Given the description of an element on the screen output the (x, y) to click on. 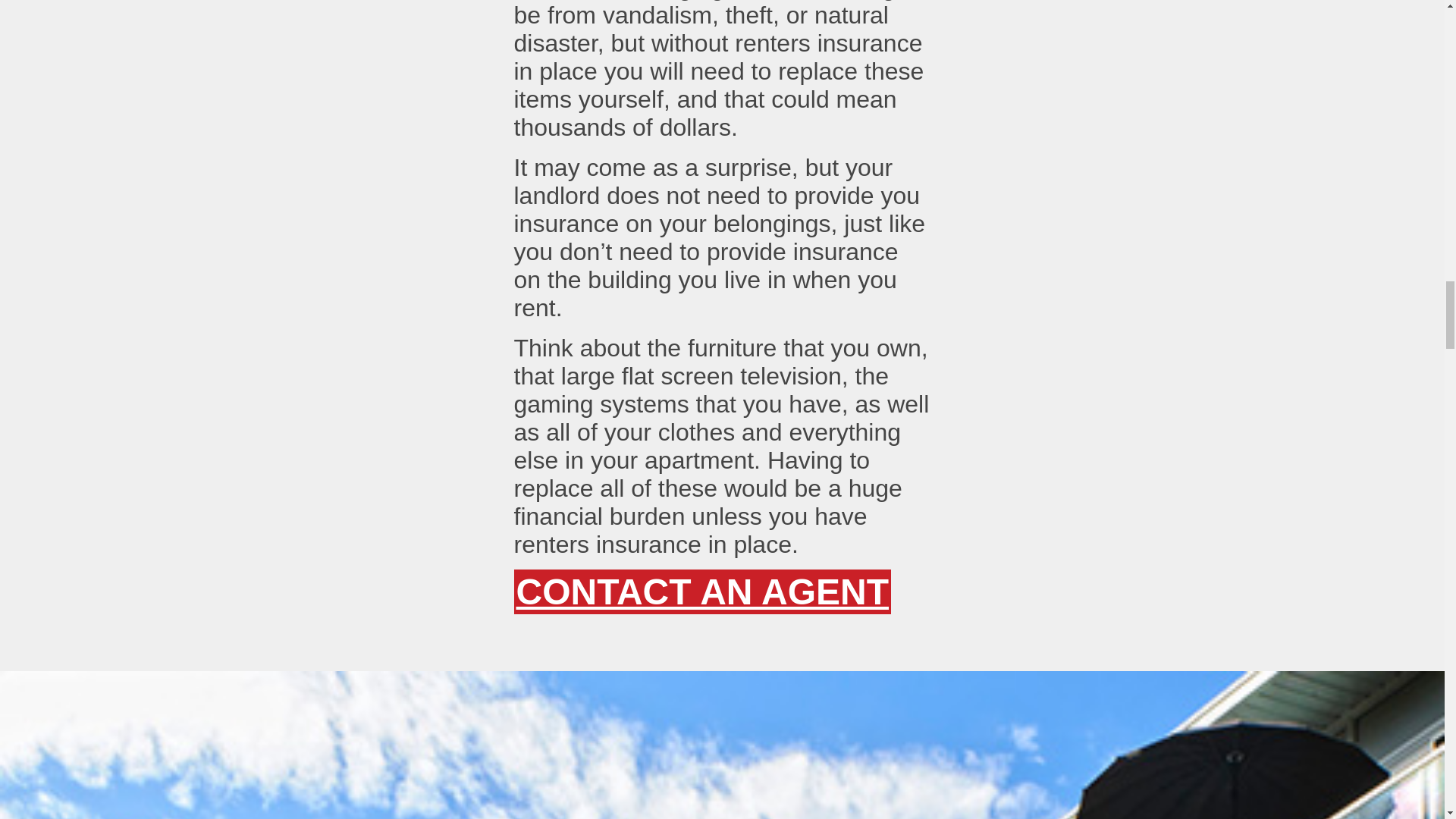
CONTACT AN AGENT (702, 591)
